Given the description of an element on the screen output the (x, y) to click on. 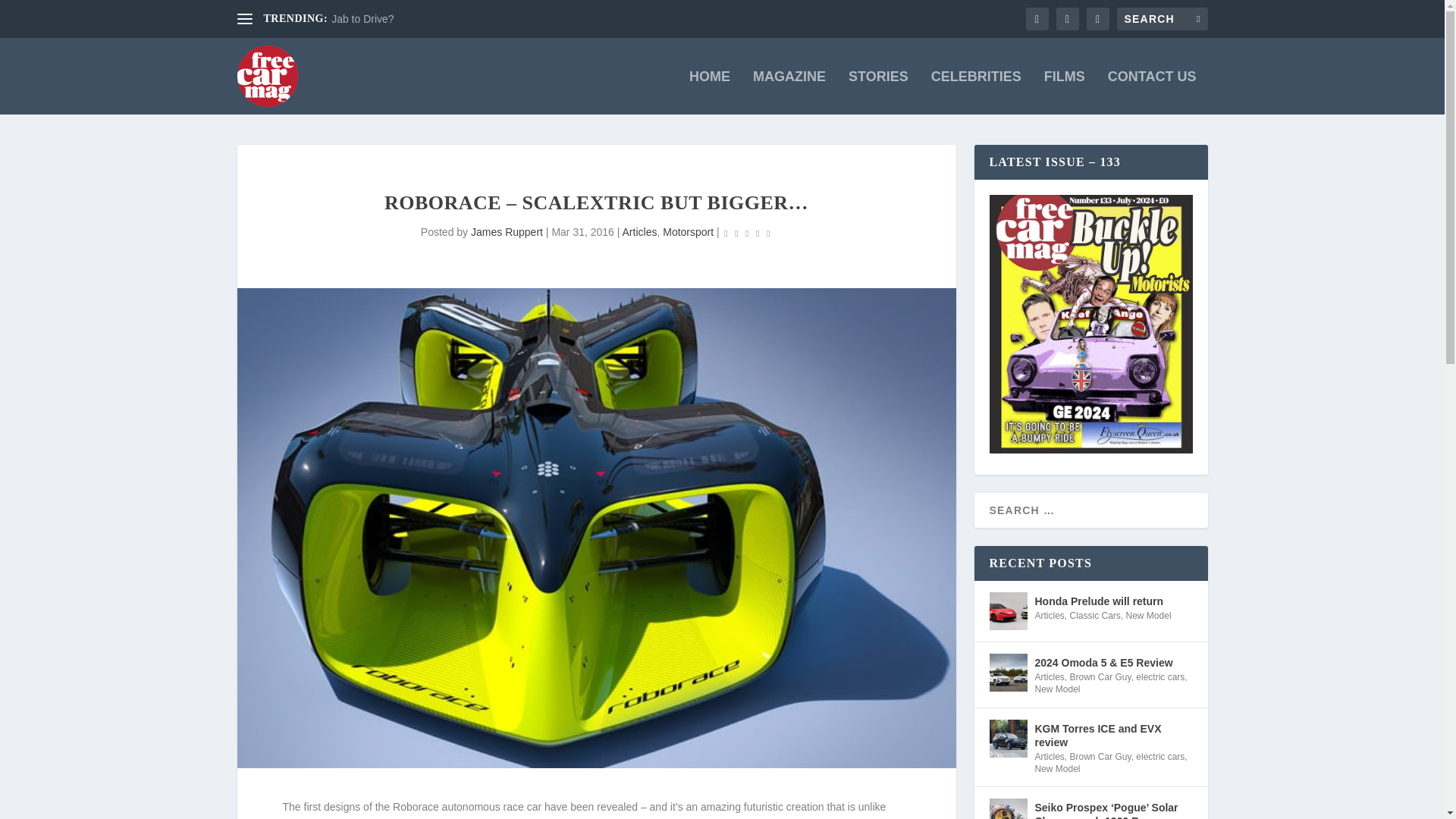
Posts by James Ruppert (506, 232)
Rating: 0.00 (747, 232)
FILMS (1063, 92)
Jab to Drive? (362, 19)
Motorsport (687, 232)
James Ruppert (506, 232)
STORIES (878, 92)
CONTACT US (1152, 92)
Articles (640, 232)
HOME (709, 92)
MAGAZINE (788, 92)
CELEBRITIES (976, 92)
Search for: (1161, 18)
